Given the description of an element on the screen output the (x, y) to click on. 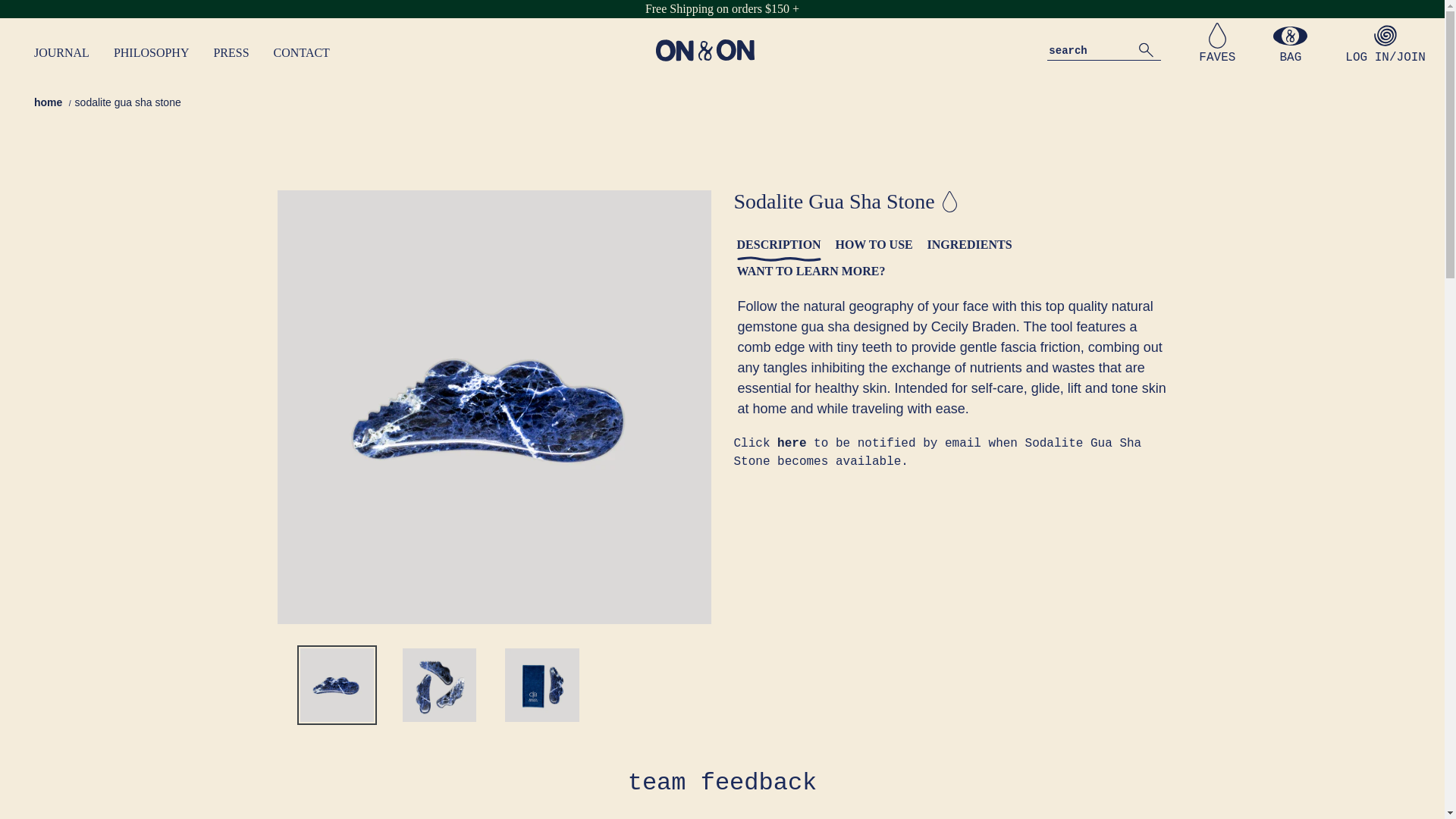
PHILOSOPHY (151, 52)
CONTACT (301, 52)
JOURNAL (60, 52)
home (47, 102)
sodalite gua sha stone (127, 102)
JOURNAL (60, 52)
